Given the description of an element on the screen output the (x, y) to click on. 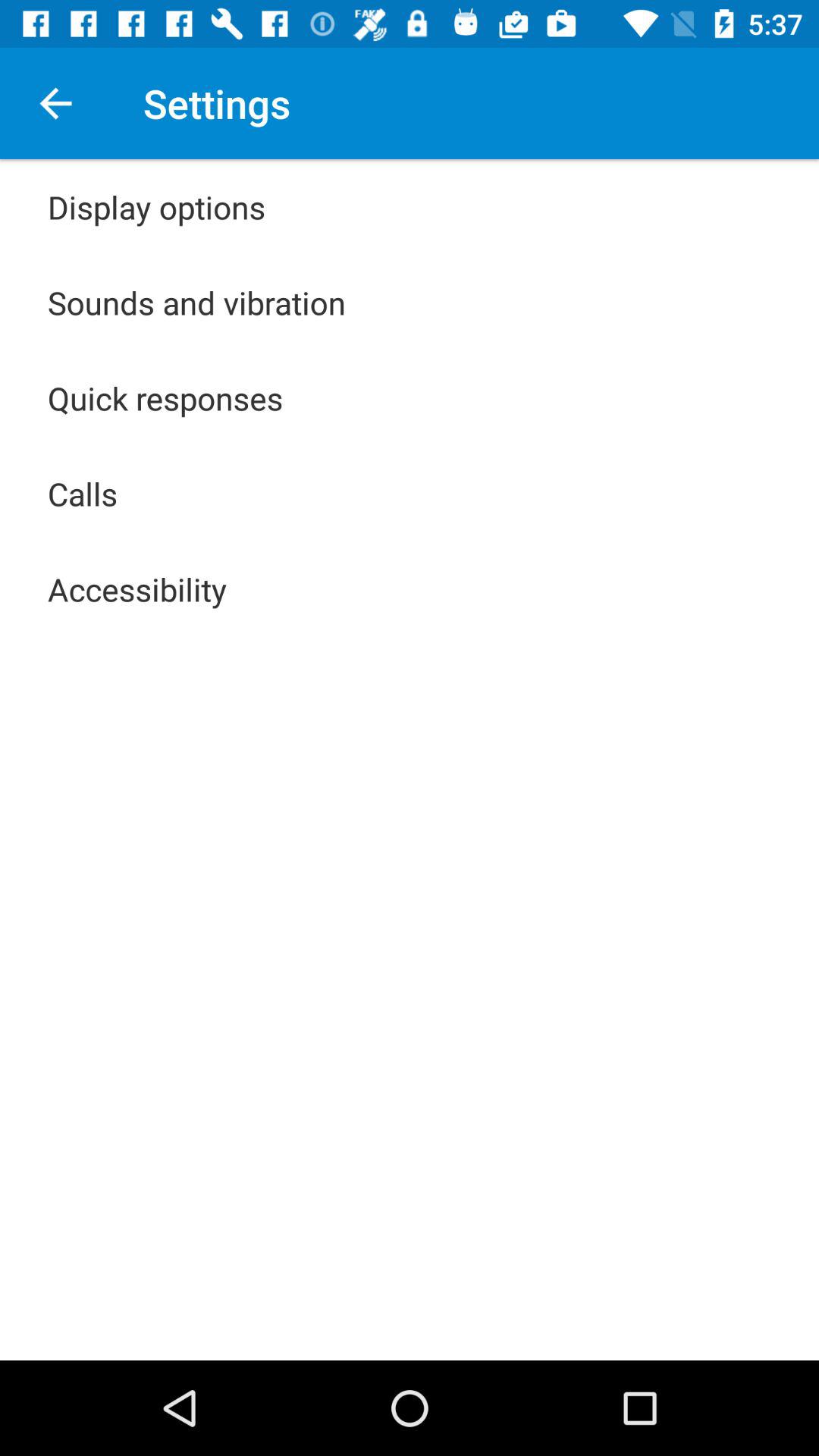
scroll to quick responses icon (165, 397)
